Given the description of an element on the screen output the (x, y) to click on. 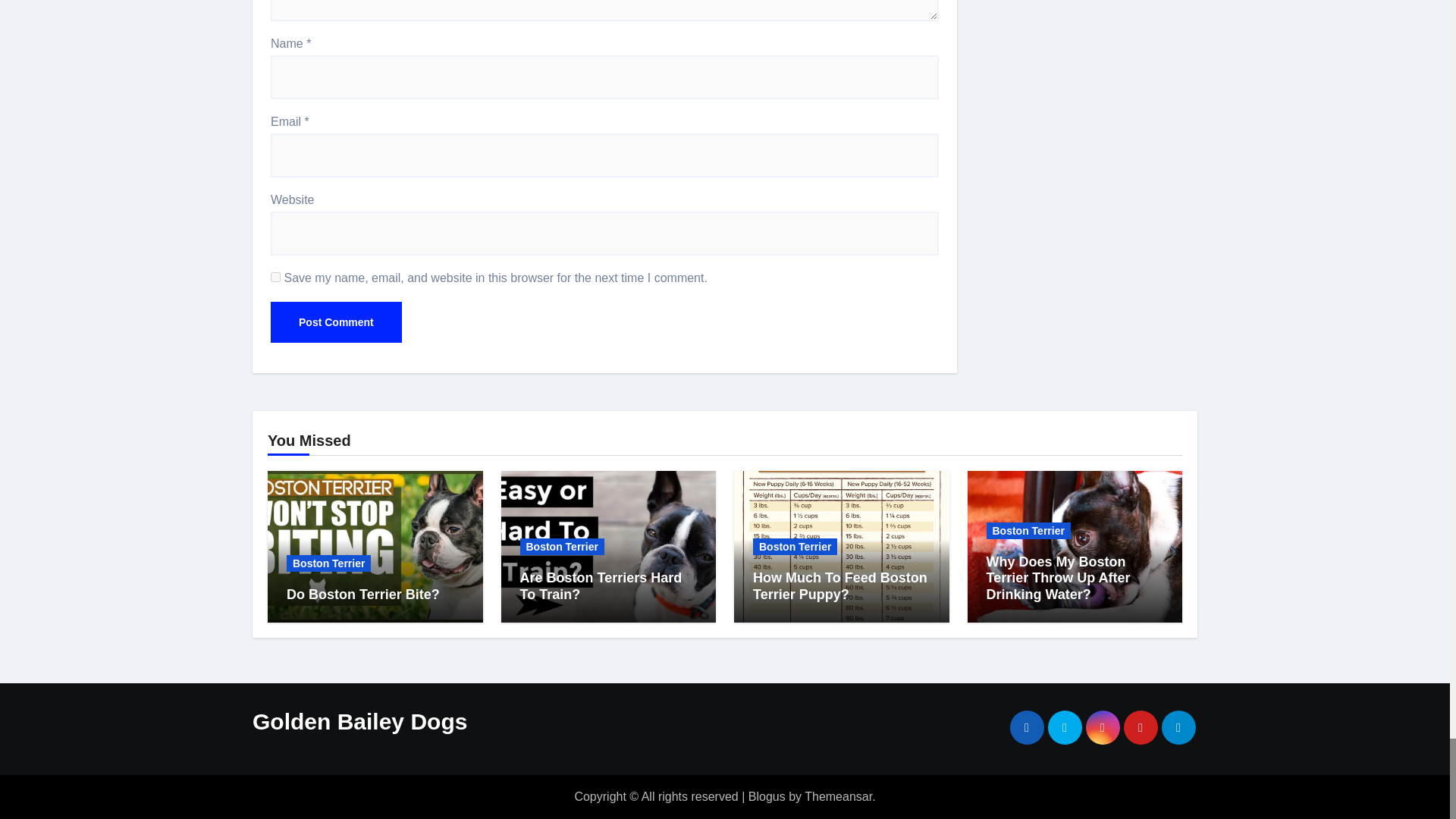
yes (275, 276)
Post Comment (335, 322)
